Given the description of an element on the screen output the (x, y) to click on. 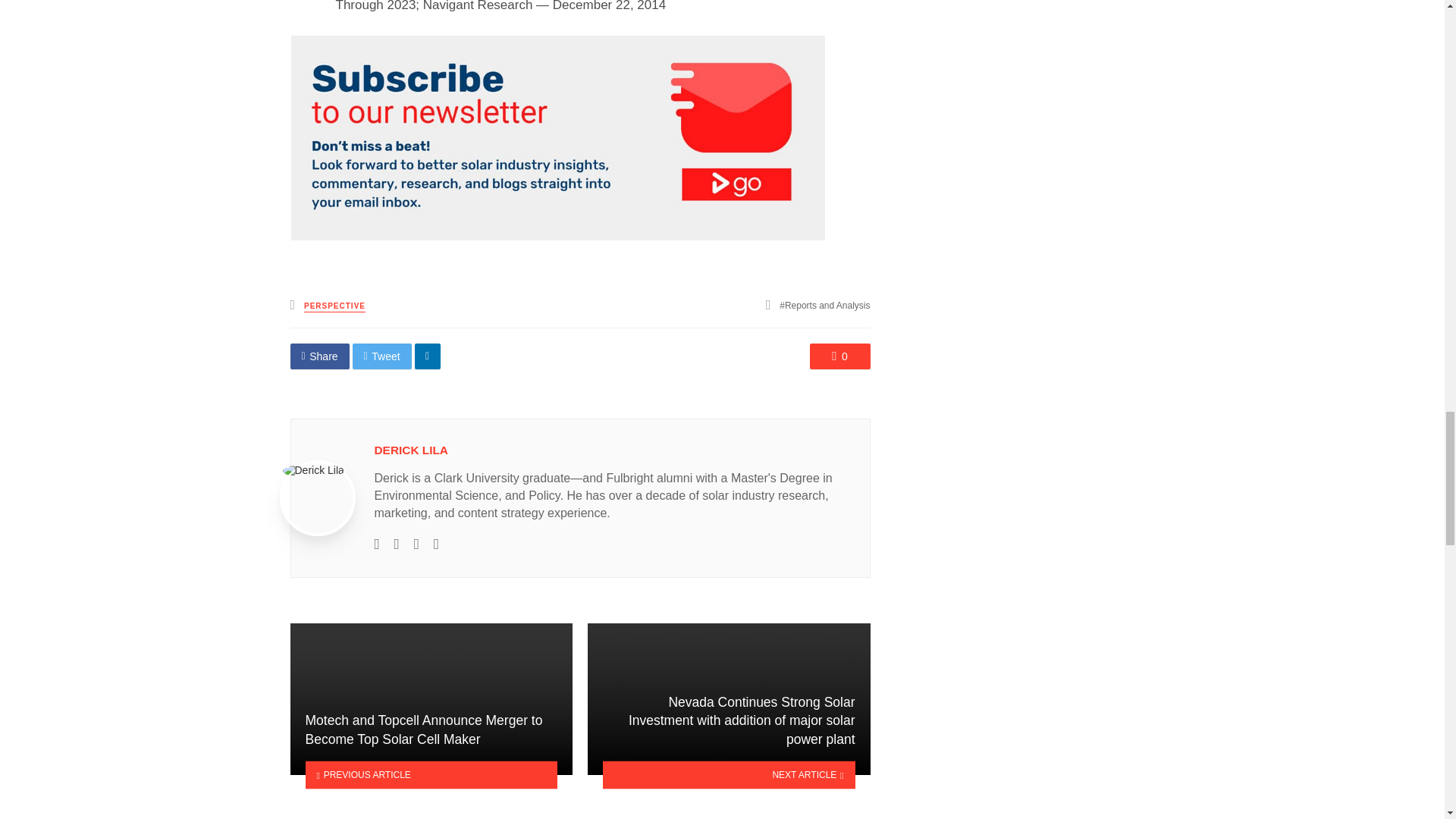
Share on Facebook (319, 356)
Share on Linkedin (427, 356)
0 Comments (839, 356)
Posts by Derick Lila (411, 449)
Share on Twitter (382, 356)
